Given the description of an element on the screen output the (x, y) to click on. 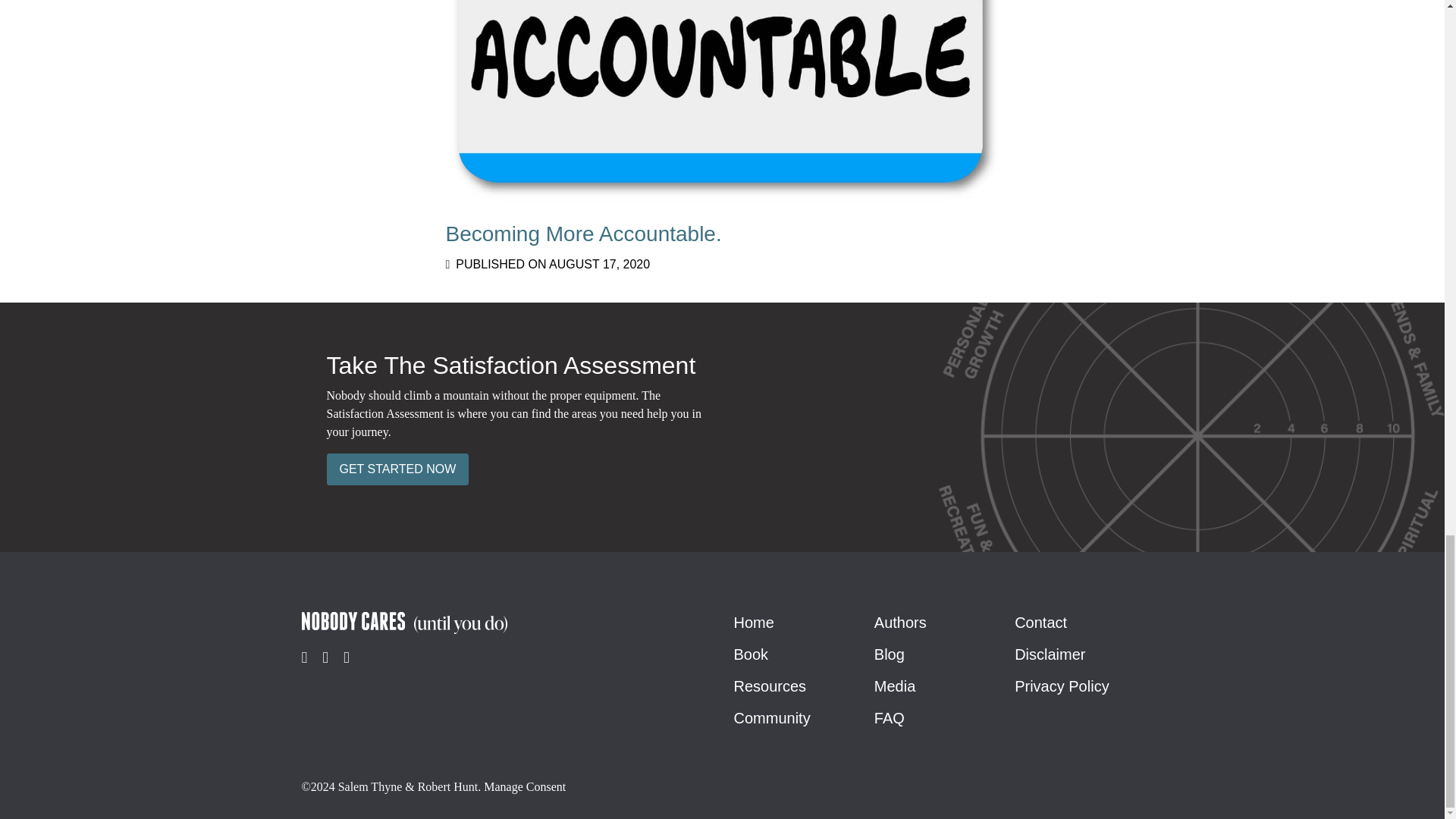
Home (753, 622)
Book (750, 654)
Resources (769, 686)
GET STARTED NOW (397, 469)
Blog (889, 654)
Community (900, 622)
